Given the description of an element on the screen output the (x, y) to click on. 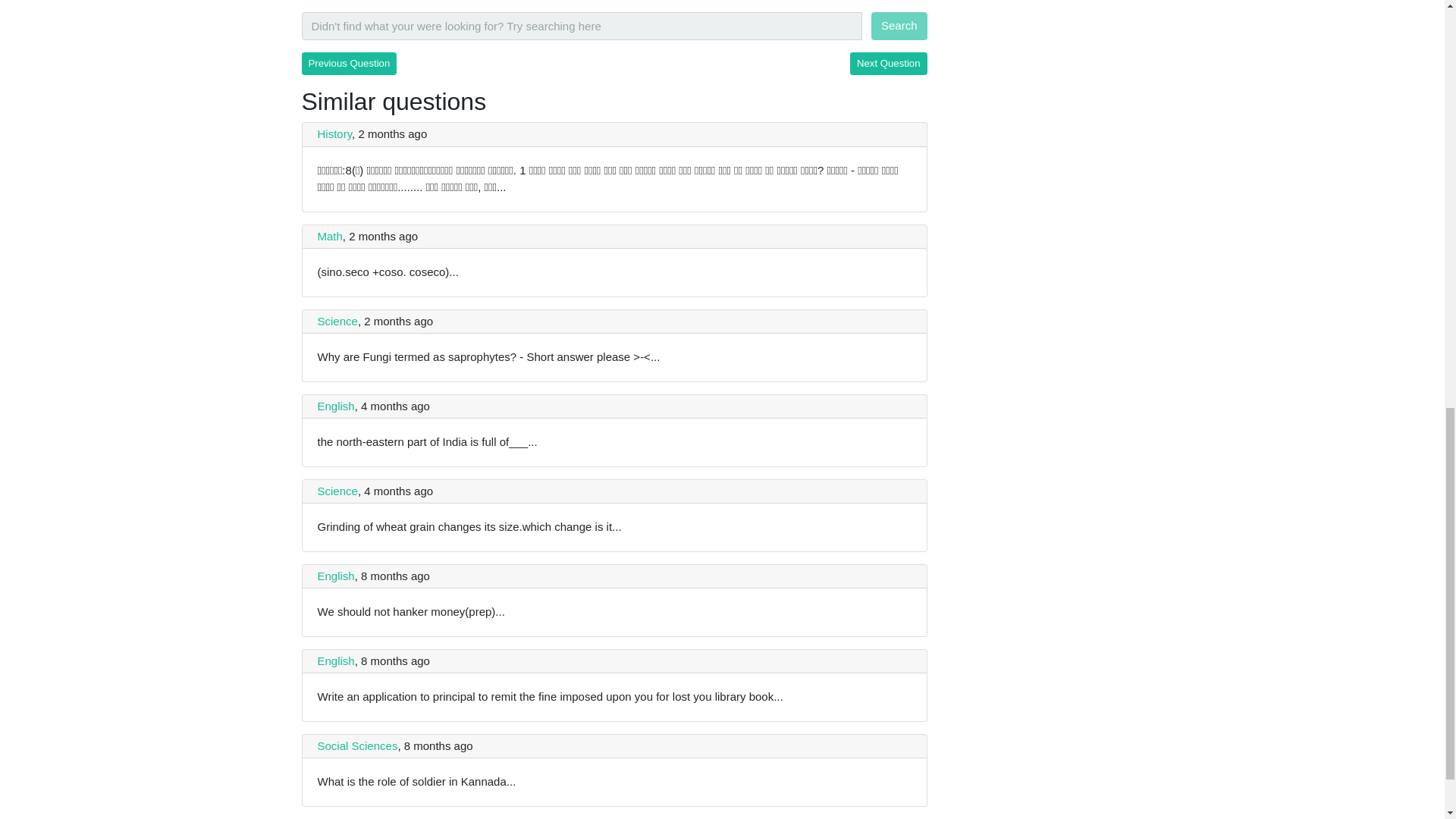
Next Question (888, 63)
Social Sciences (357, 745)
Science (336, 490)
Search (898, 26)
English (335, 405)
English (335, 575)
English (335, 660)
Previous Question (349, 63)
Math (329, 236)
What is the role of soldier in Kannada... (416, 780)
